Given the description of an element on the screen output the (x, y) to click on. 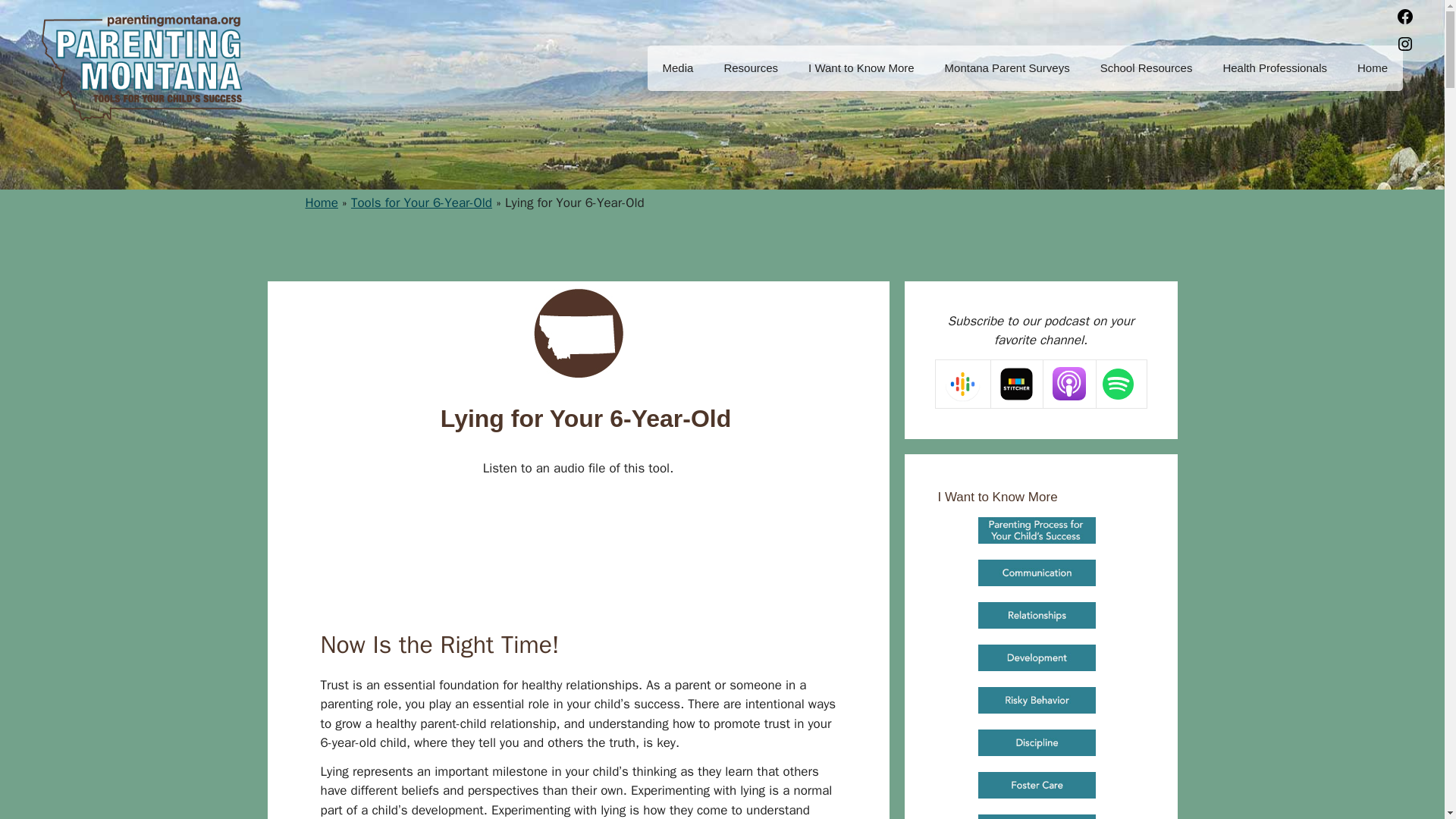
Facebook (1404, 21)
Tools for Your 6-Year-Old (421, 202)
Montana Parent Surveys (1007, 67)
Resources (750, 67)
Home (320, 202)
School Resources (1146, 67)
Home (1372, 67)
Instagram (1404, 49)
I Want to Know More (861, 67)
Media (678, 67)
